Given the description of an element on the screen output the (x, y) to click on. 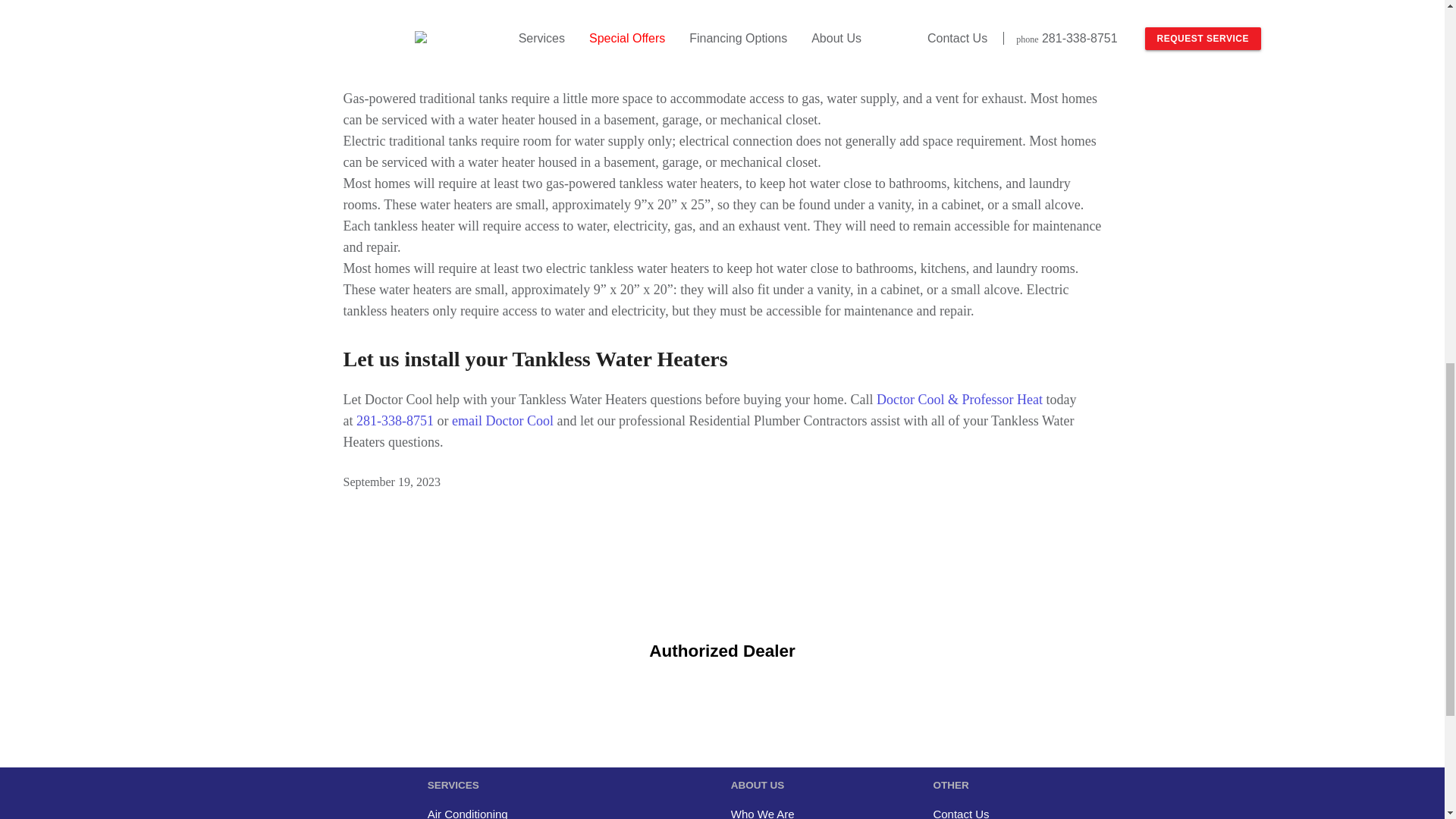
281-338-8751 (394, 420)
email Doctor Cool (502, 420)
